Given the description of an element on the screen output the (x, y) to click on. 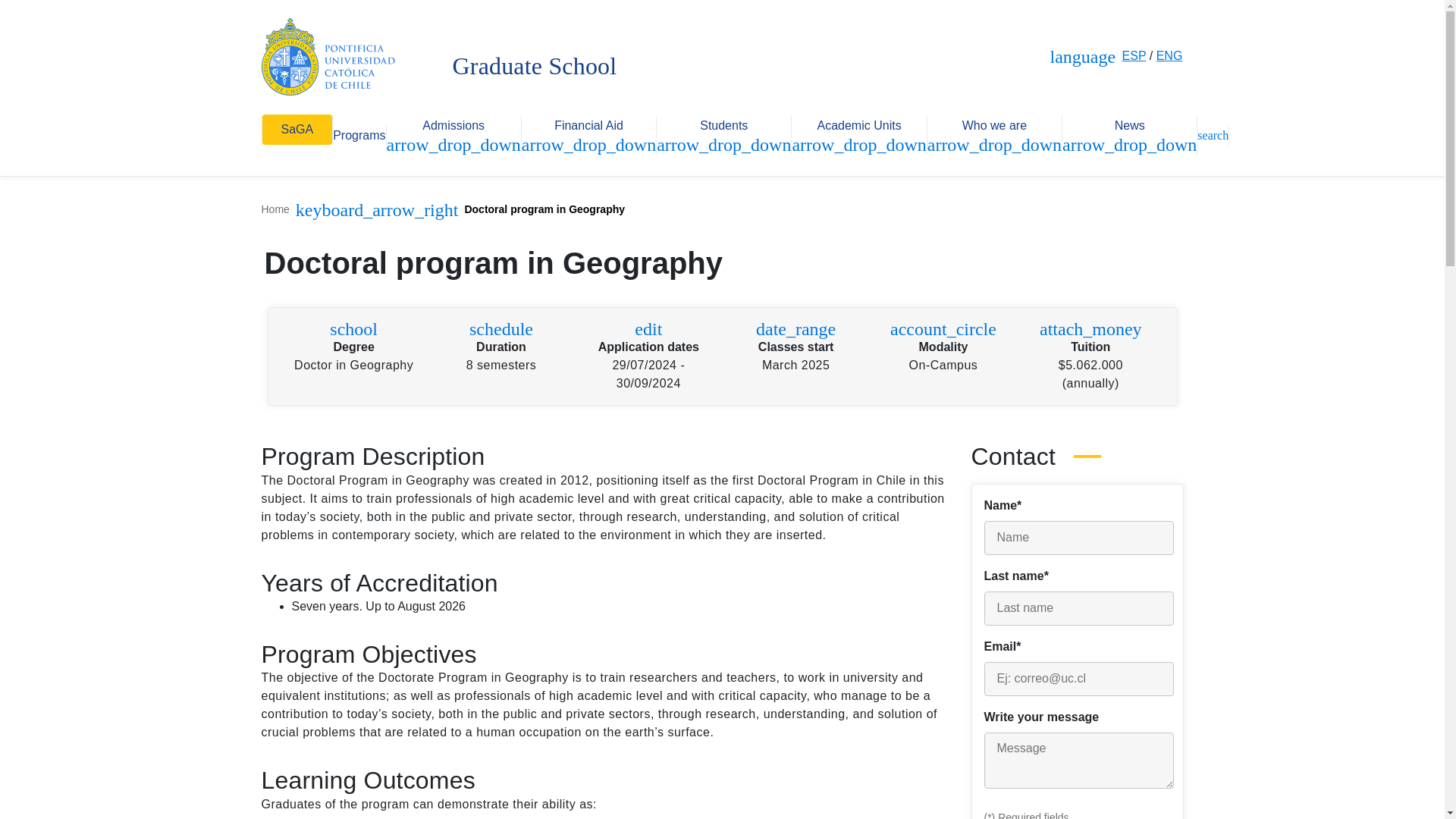
Go to English translated content (1169, 55)
ESP (1134, 55)
SaGA (297, 129)
Programs (359, 136)
Go back to home page (327, 55)
Financial Aid (588, 127)
Who we are (994, 127)
Go to Spanish translated content (1134, 55)
Admissions (453, 127)
Admissions (453, 127)
Academic Units (858, 127)
Programs (359, 136)
ENG (1169, 55)
Students (724, 127)
Financial Aid (588, 127)
